Given the description of an element on the screen output the (x, y) to click on. 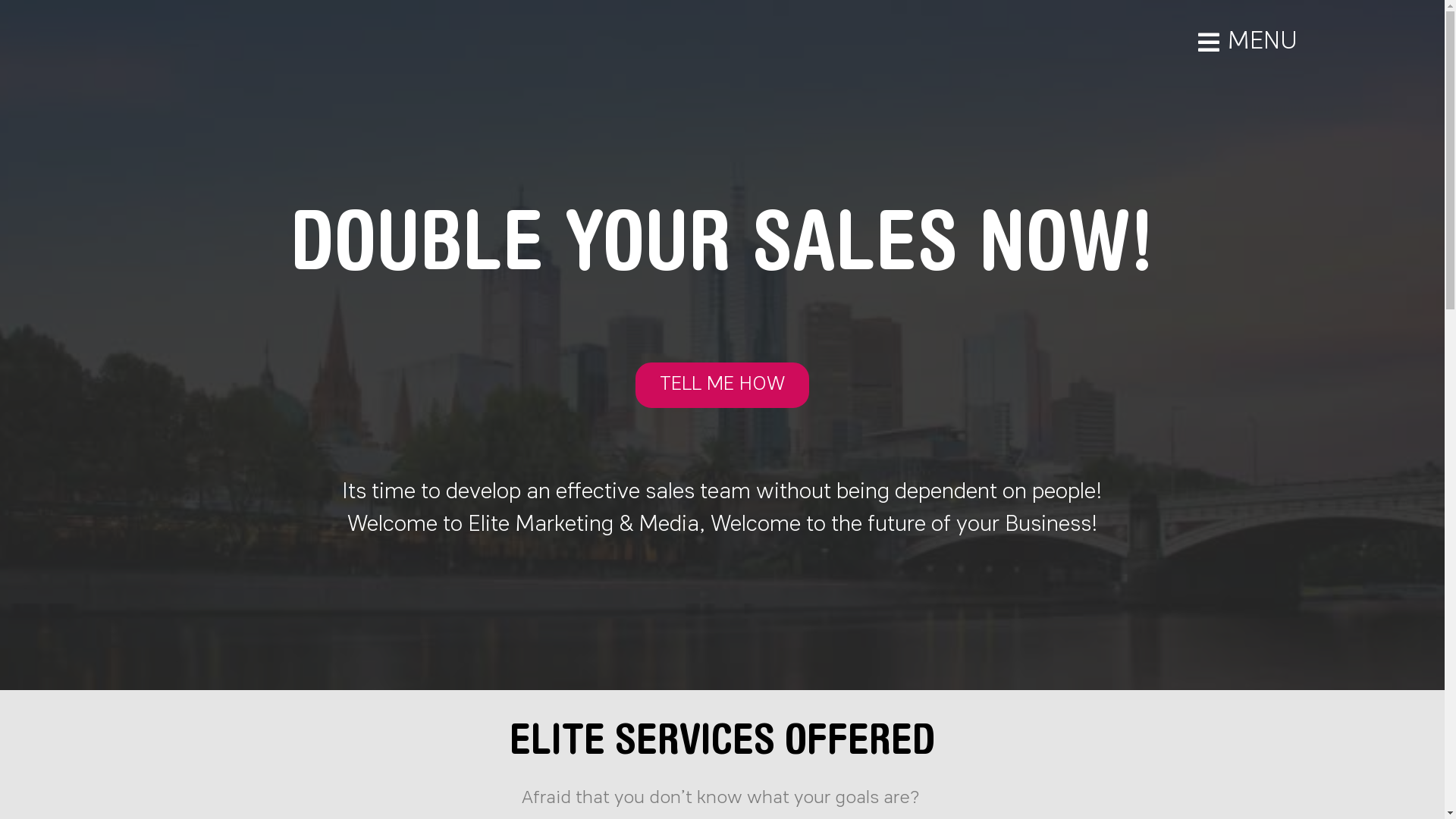
MENU Element type: text (1259, 43)
TELL ME HOW Element type: text (722, 384)
